Given the description of an element on the screen output the (x, y) to click on. 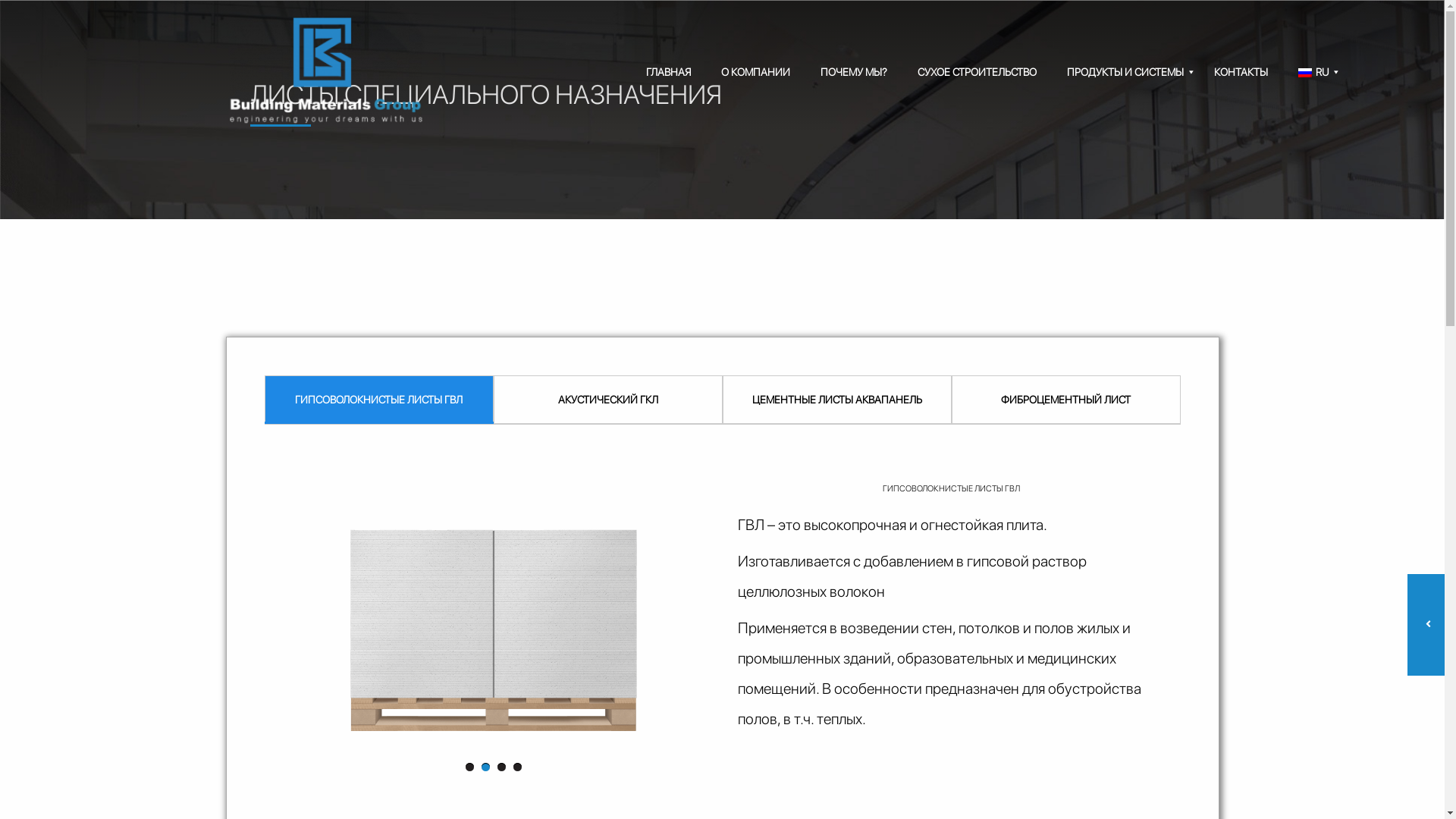
Building Materials Group Element type: hover (189, 71)
RU Element type: text (1313, 72)
